Given the description of an element on the screen output the (x, y) to click on. 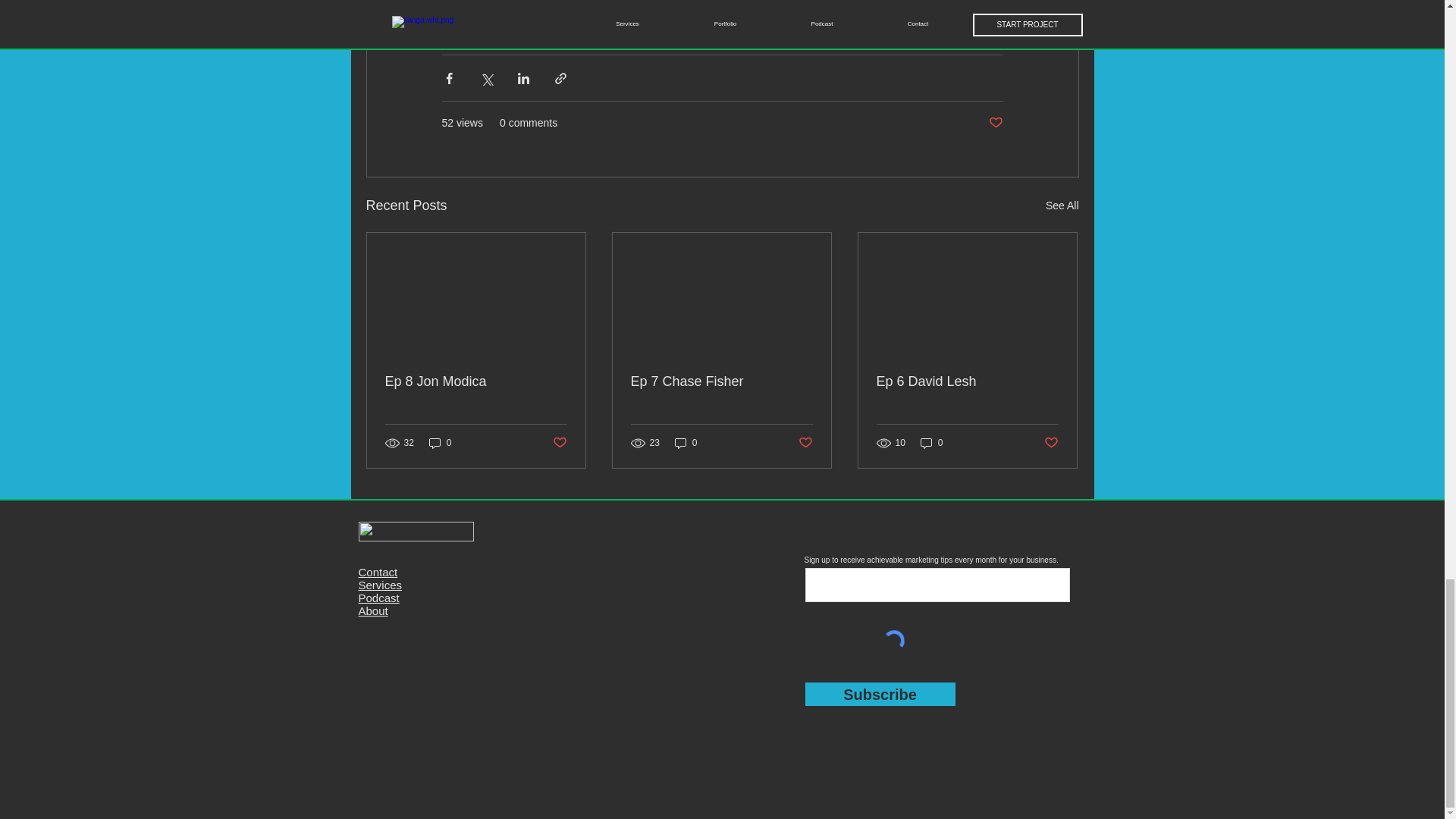
Post not marked as liked (1050, 442)
Ep 7 Chase Fisher (721, 381)
Post not marked as liked (558, 442)
Subscribe (880, 693)
Ep 8 Jon Modica (476, 381)
Post not marked as liked (804, 442)
0 (685, 442)
kanga-wht.png (415, 531)
Ep 6 David Lesh (967, 381)
0 (440, 442)
